Given the description of an element on the screen output the (x, y) to click on. 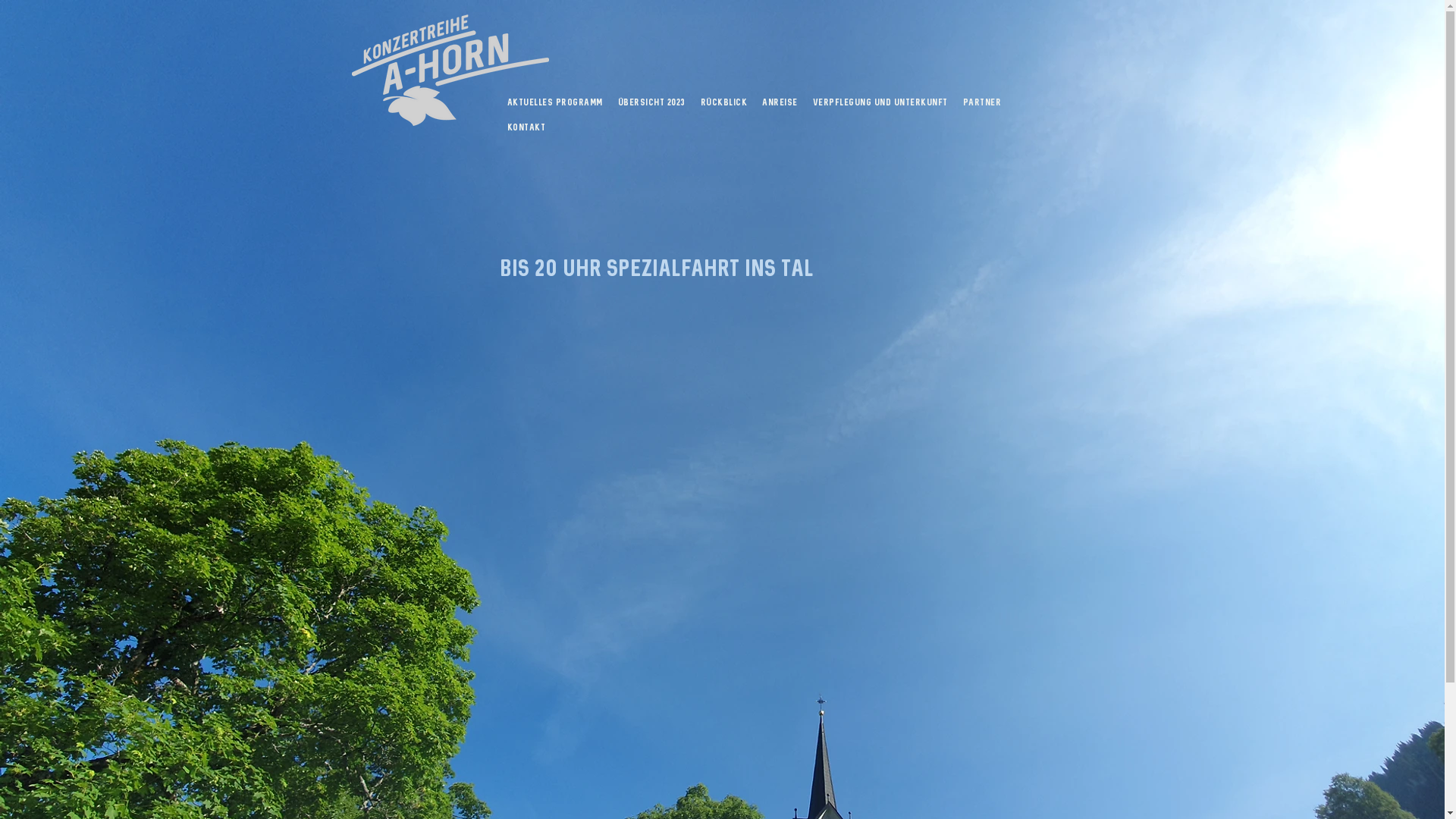
Kontakt Element type: text (525, 127)
Aktuelles Programm Element type: text (553, 102)
Verpflegung und Unterkunft Element type: text (880, 102)
Partner Element type: text (982, 102)
Anreise Element type: text (779, 102)
